Given the description of an element on the screen output the (x, y) to click on. 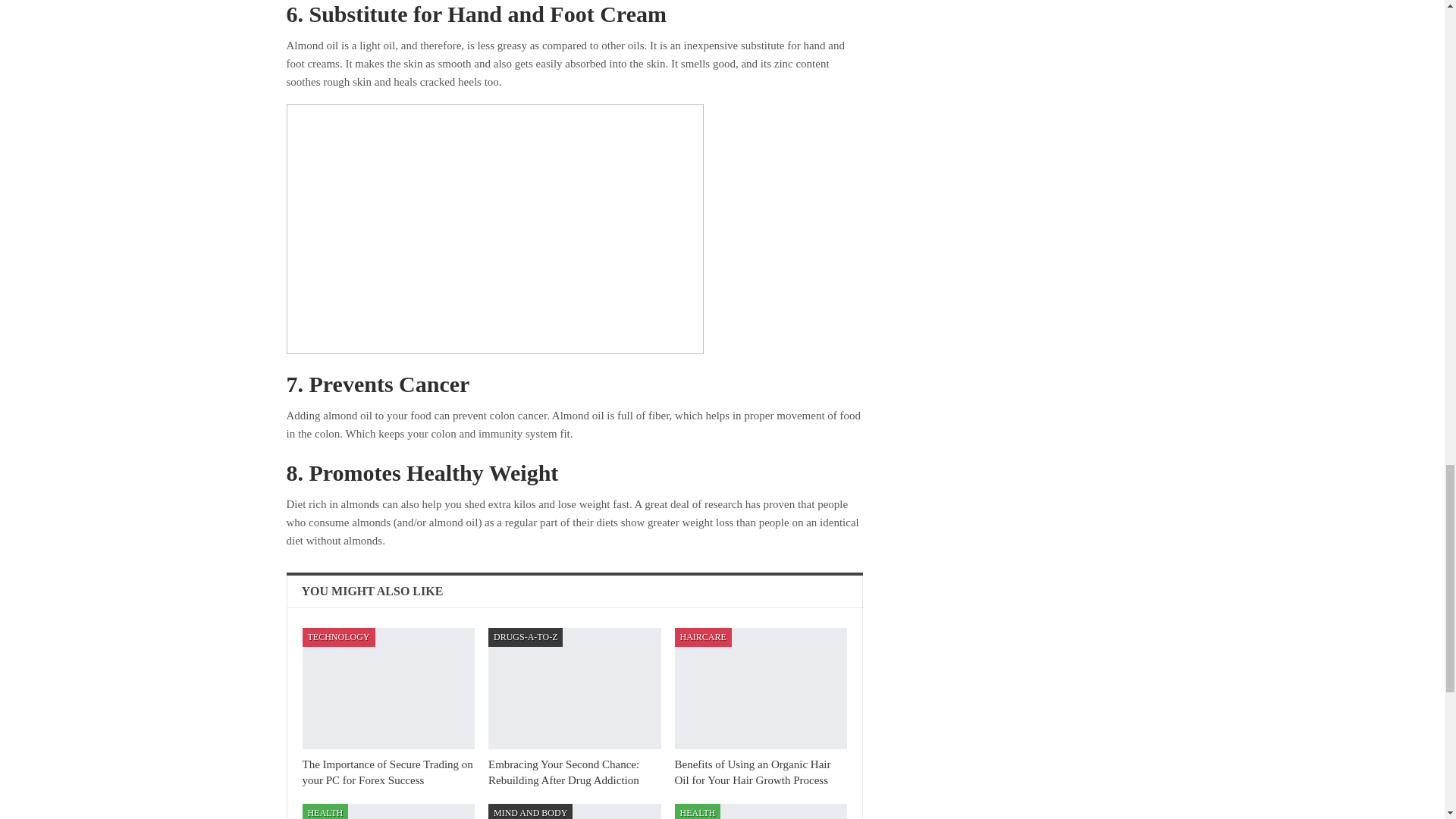
How To Overcome Addiction and Start Fresh in Life (761, 811)
